Given the description of an element on the screen output the (x, y) to click on. 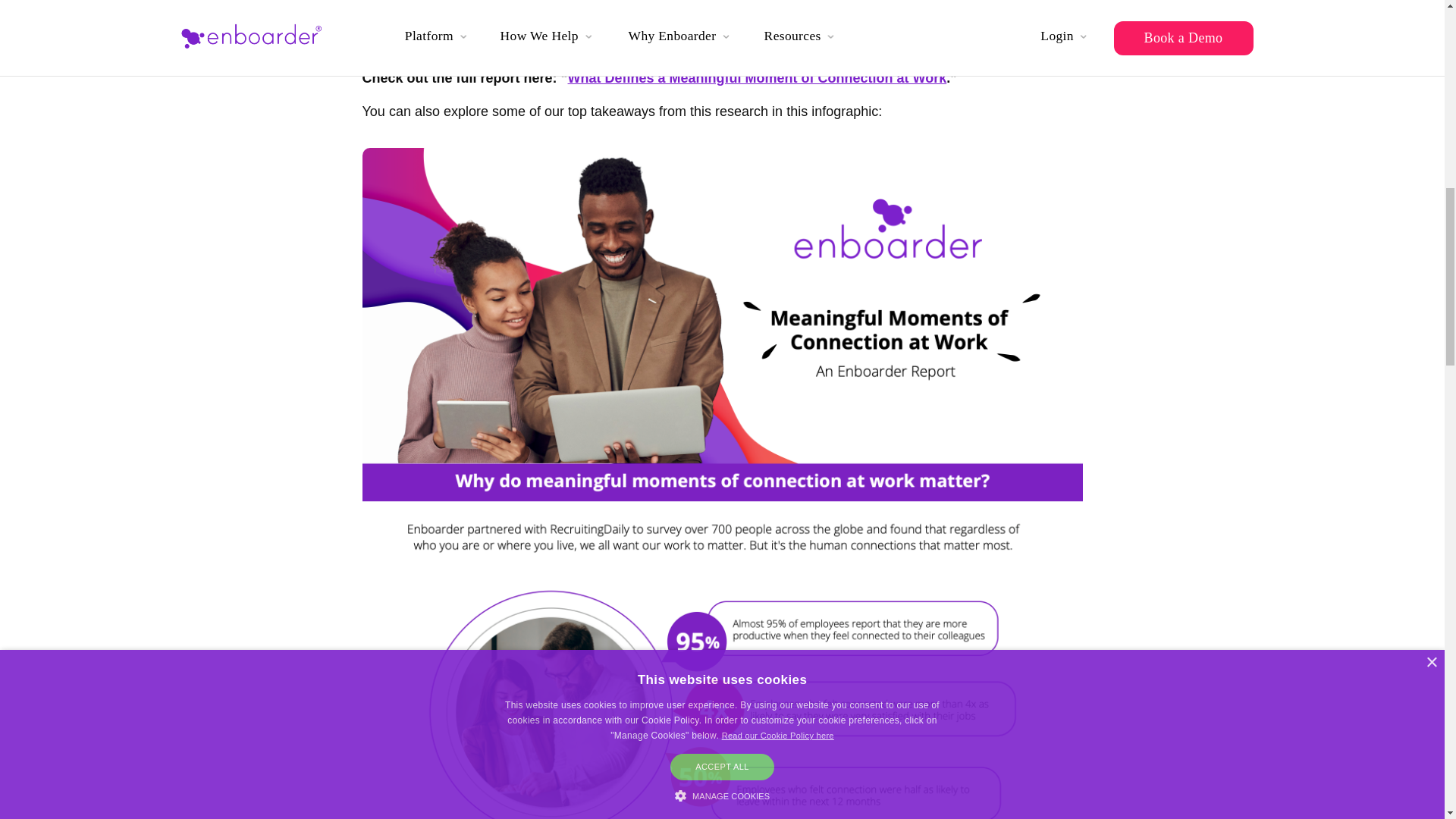
What Defines a Meaningful Moment of Connection at Work (757, 77)
